Given the description of an element on the screen output the (x, y) to click on. 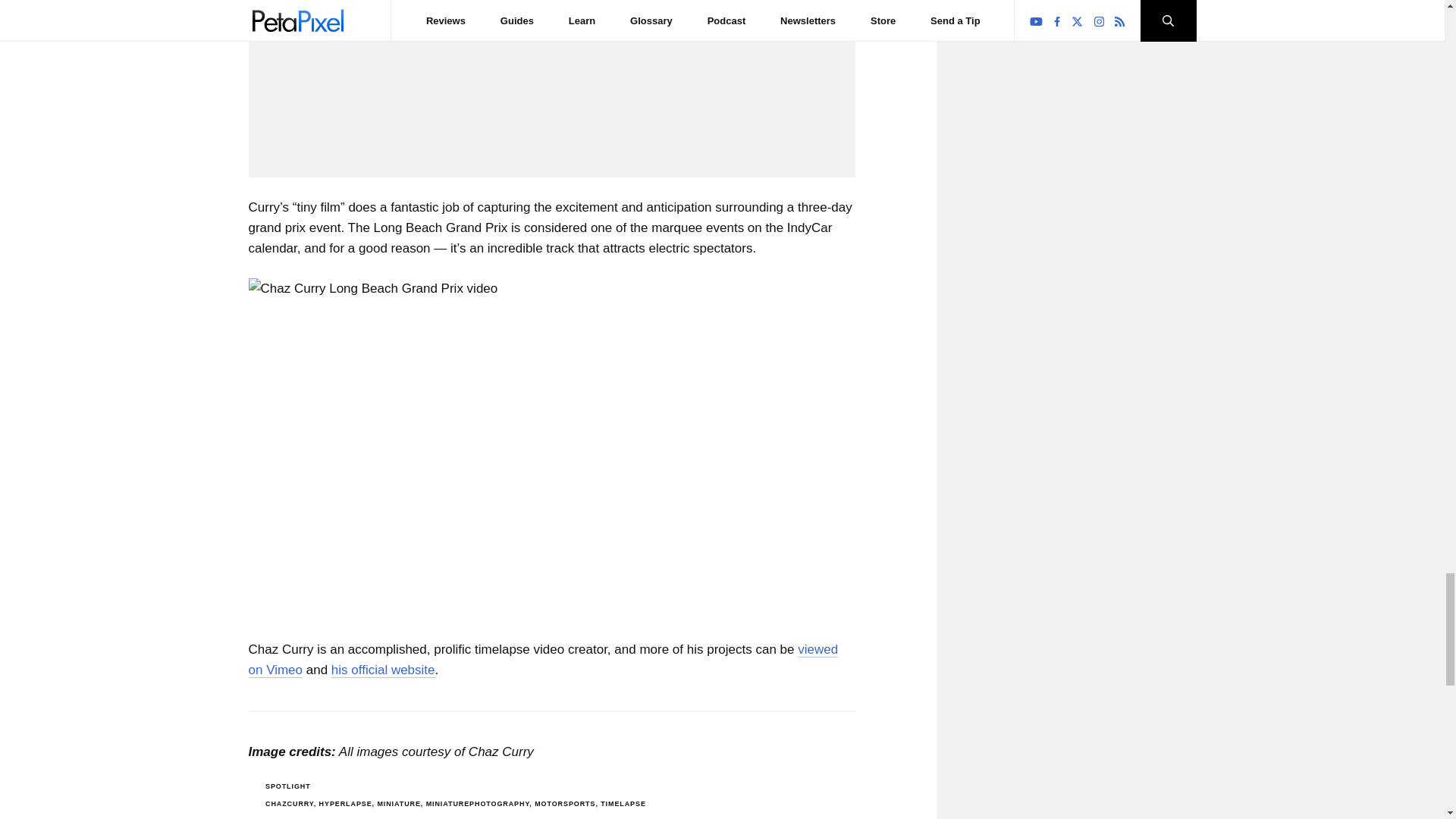
MINIATURE (398, 803)
MINIATUREPHOTOGRAPHY (477, 803)
viewed on Vimeo (543, 659)
CHAZCURRY (289, 803)
MOTORSPORTS (564, 803)
TIMELAPSE (622, 803)
HYPERLAPSE (345, 803)
his official website (383, 670)
SPOTLIGHT (287, 786)
